Given the description of an element on the screen output the (x, y) to click on. 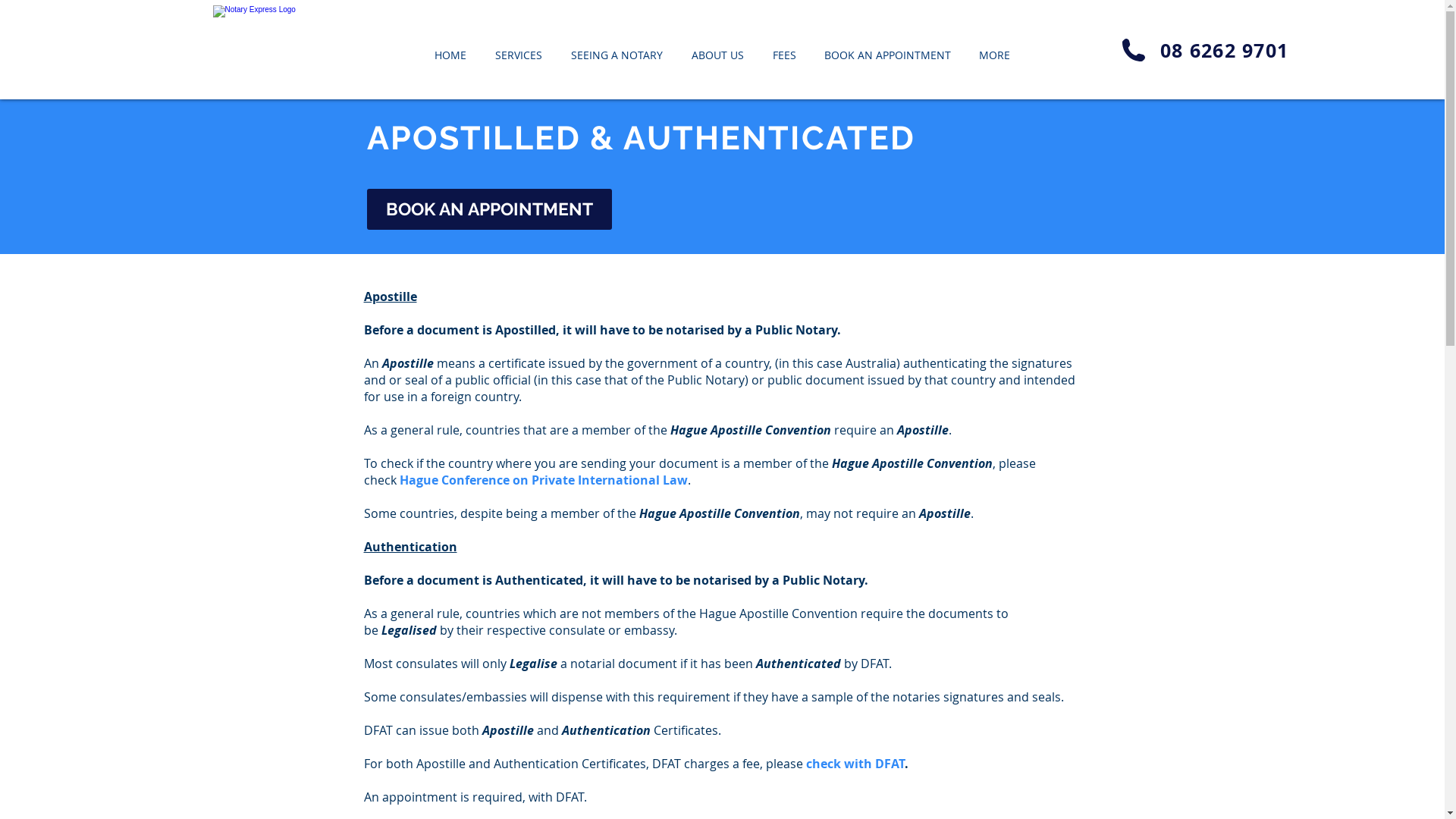
SERVICES Element type: text (518, 48)
. Element type: text (905, 763)
BOOK AN APPOINTMENT Element type: text (489, 208)
FEES Element type: text (784, 48)
ABOUT US Element type: text (716, 48)
BOOK AN APPOINTMENT Element type: text (886, 48)
Hague Conference on Private International Law Element type: text (542, 479)
HOME Element type: text (450, 48)
SEEING A NOTARY Element type: text (616, 48)
check with DFAT Element type: text (854, 763)
